Given the description of an element on the screen output the (x, y) to click on. 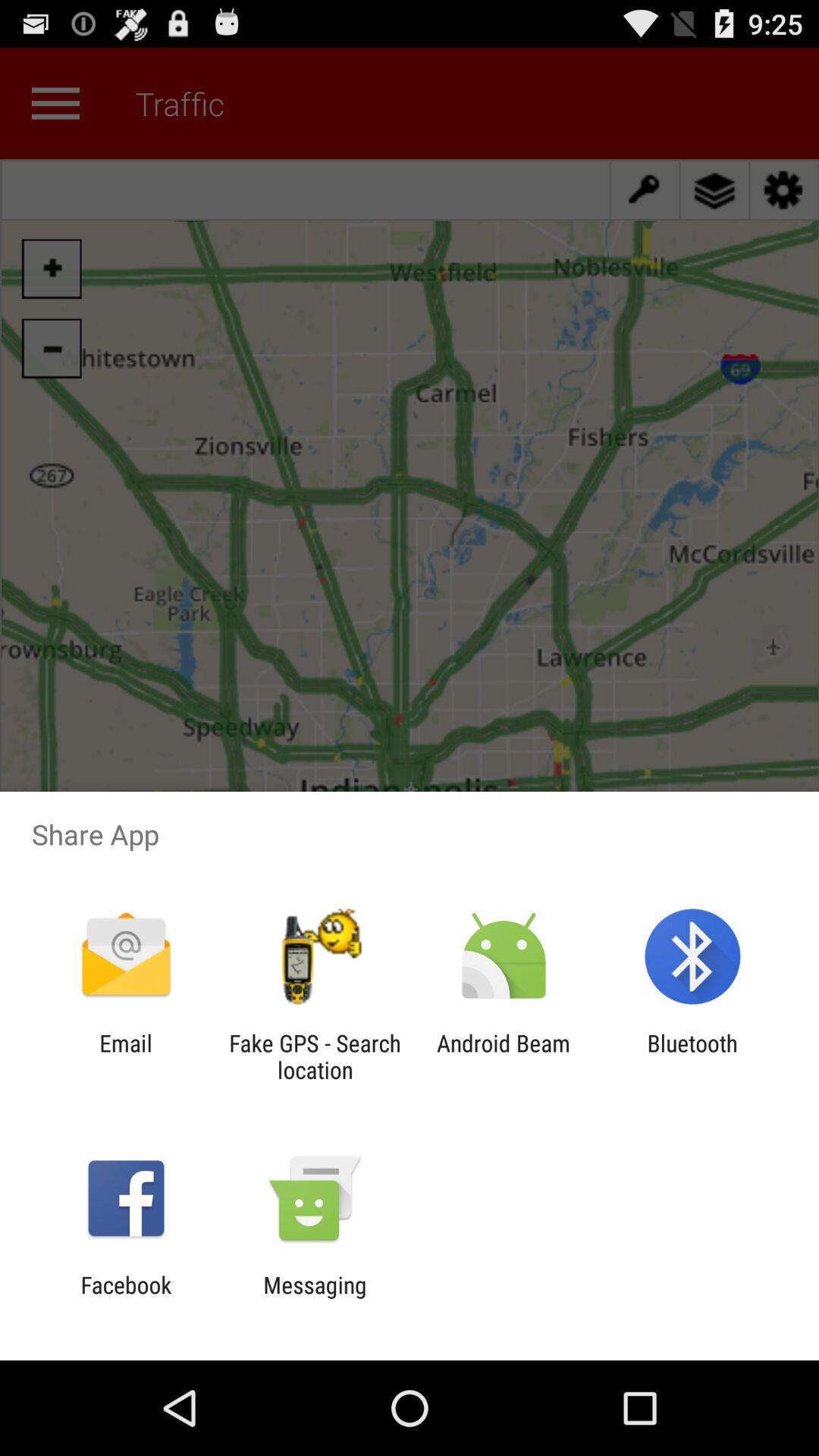
swipe to the fake gps search icon (314, 1056)
